Given the description of an element on the screen output the (x, y) to click on. 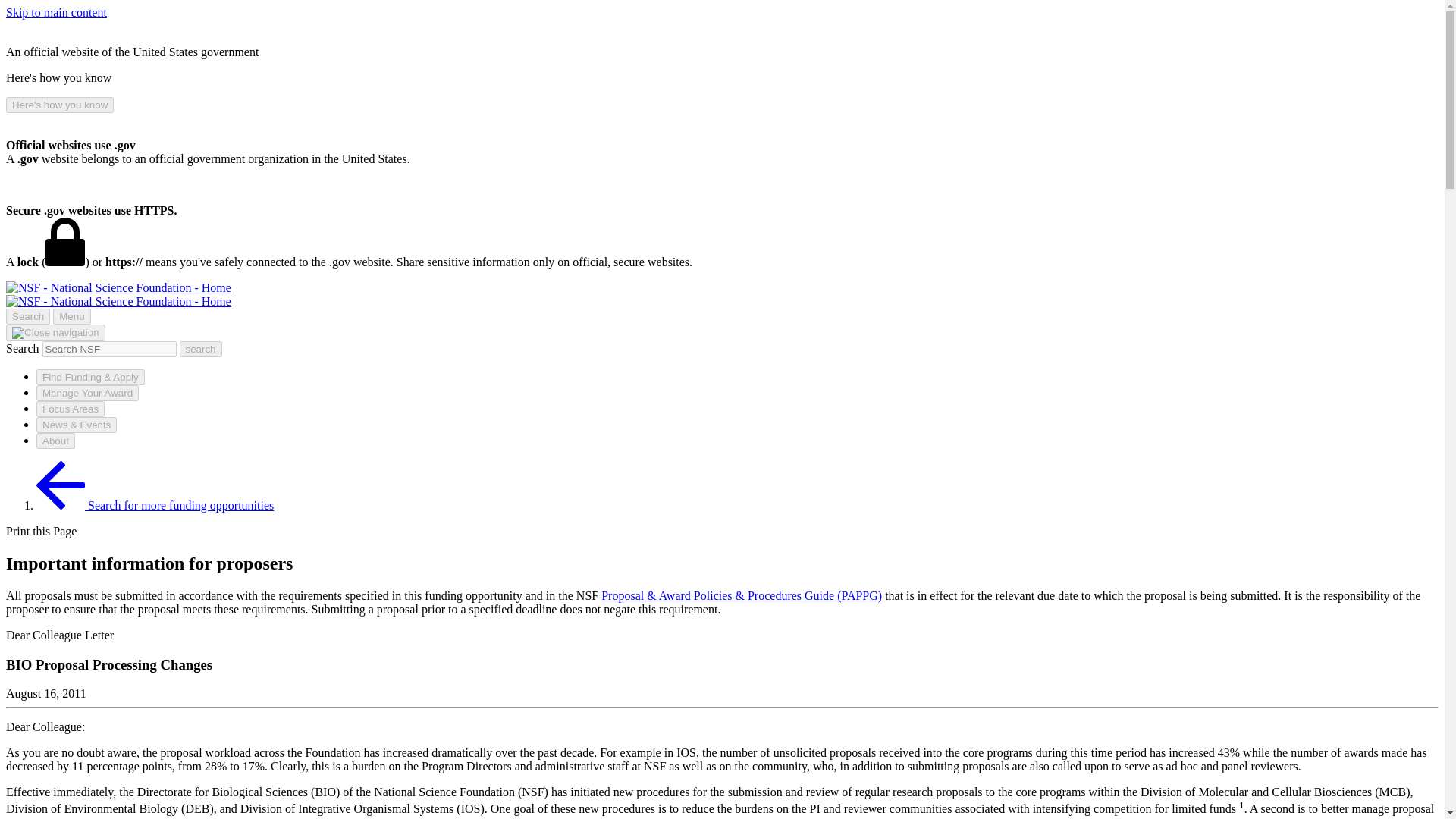
search (200, 349)
Print this Page (41, 530)
LockLocked padlock (64, 241)
Skip to main content (55, 11)
Focus Areas (70, 408)
arrow-left (60, 485)
arrow-left Search for more funding opportunities (154, 504)
About (55, 440)
Menu (71, 316)
Search (27, 316)
search (109, 349)
Here's how you know (59, 105)
Manage Your Award (87, 392)
